Given the description of an element on the screen output the (x, y) to click on. 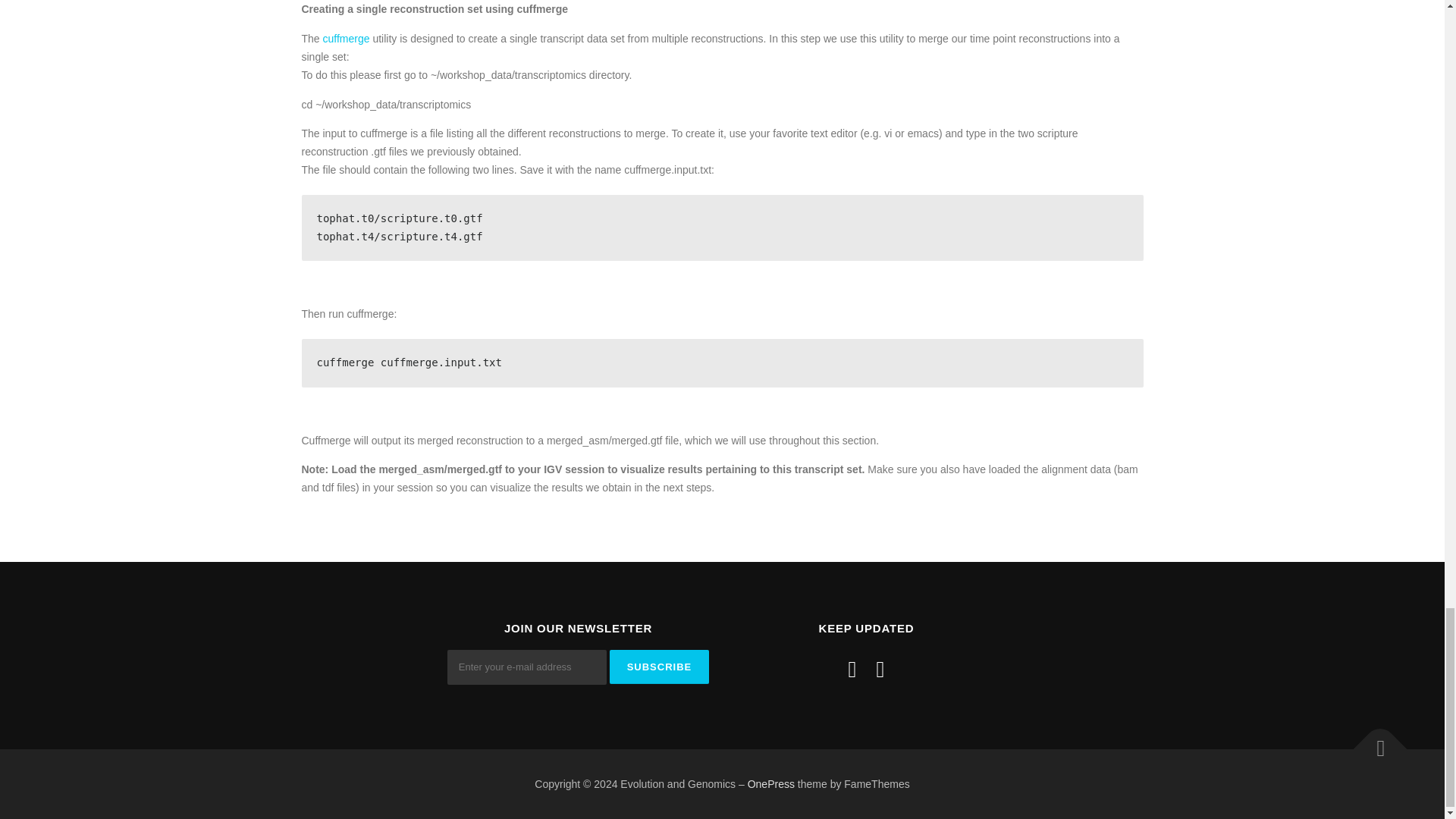
Subscribe (660, 666)
Back To Top (1372, 741)
